Given the description of an element on the screen output the (x, y) to click on. 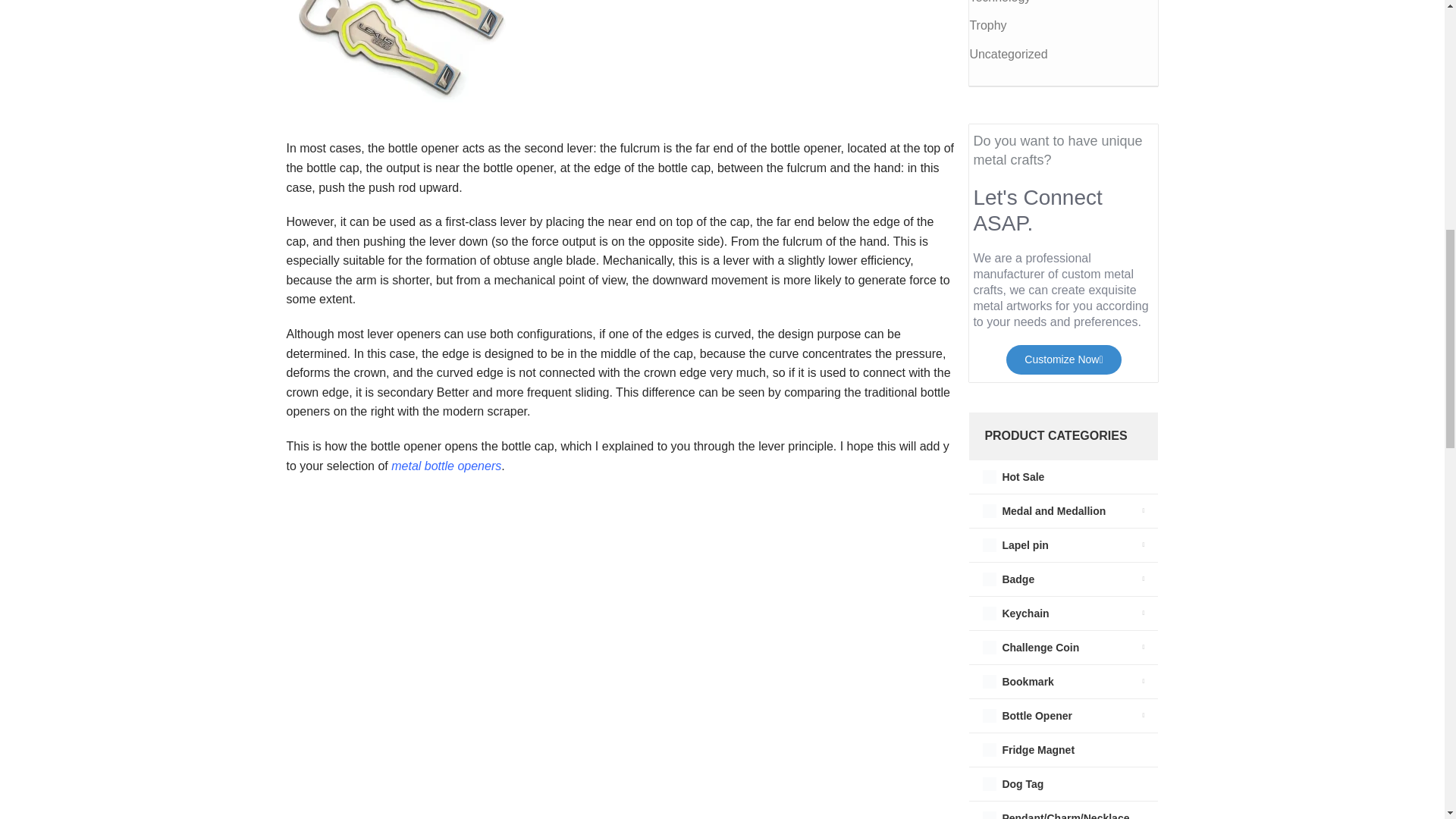
bookmark (988, 681)
coin (988, 647)
sale-3 (988, 477)
medal (988, 510)
